Given the description of an element on the screen output the (x, y) to click on. 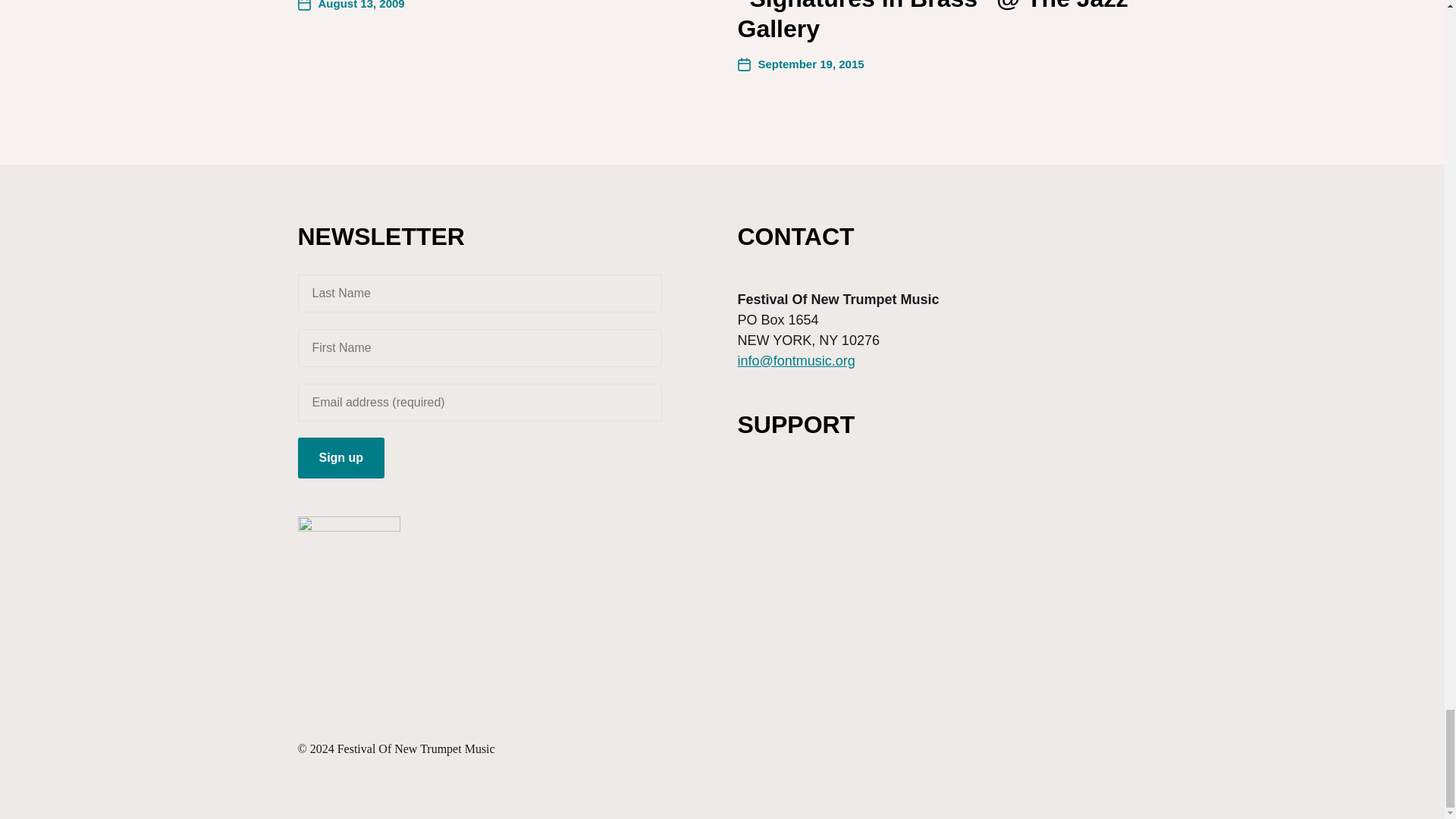
Sign up (340, 457)
